Given the description of an element on the screen output the (x, y) to click on. 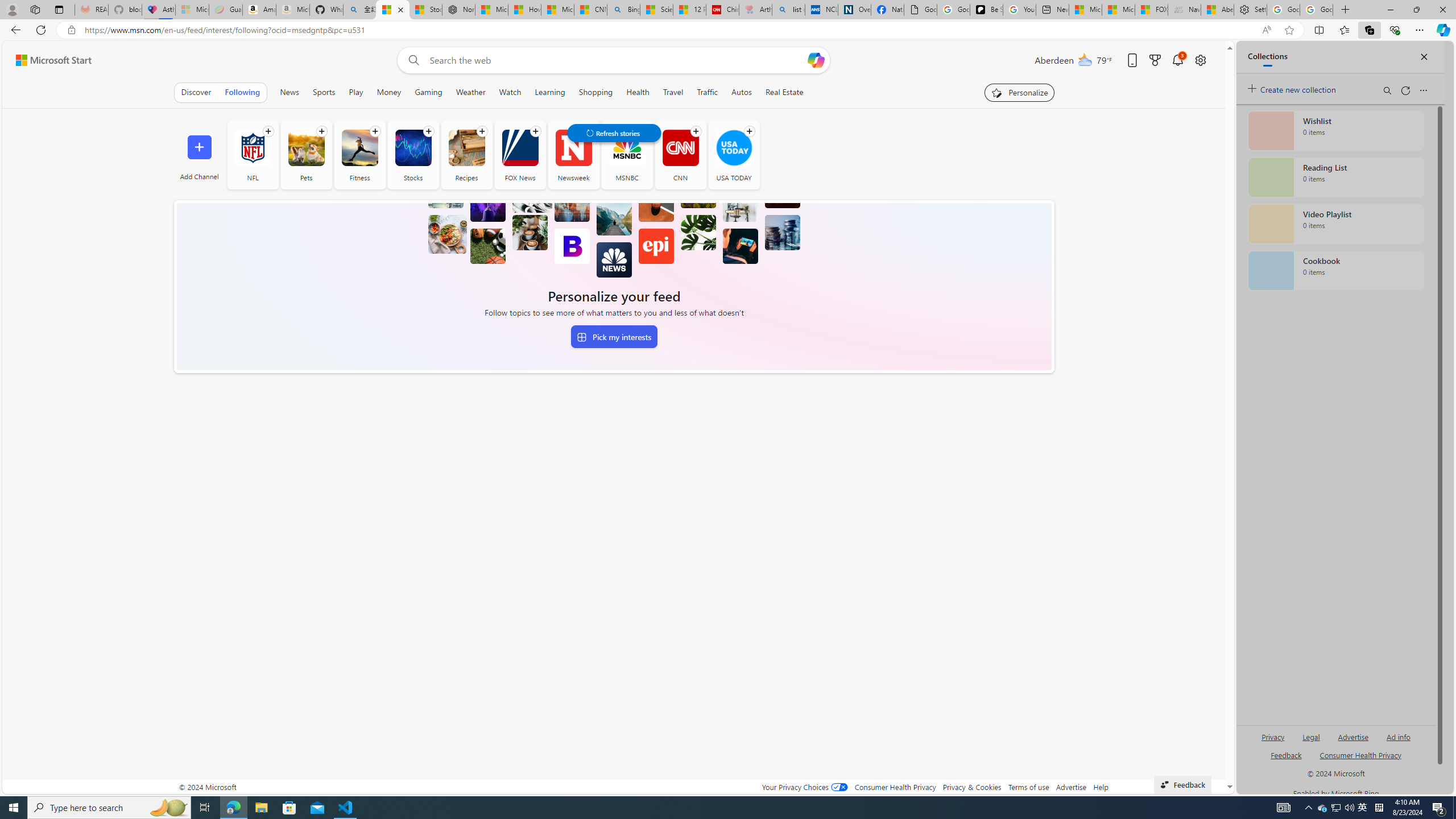
Be Smart | creating Science videos | Patreon (986, 9)
Stocks (412, 147)
Web search (411, 60)
Enter your search term (617, 59)
Arthritis: Ask Health Professionals - Sleeping (755, 9)
Open settings (1199, 60)
AutomationID: sb_feedback (1286, 754)
Newsweek (573, 147)
FOX News - MSN (1150, 9)
Watch (509, 92)
